Given the description of an element on the screen output the (x, y) to click on. 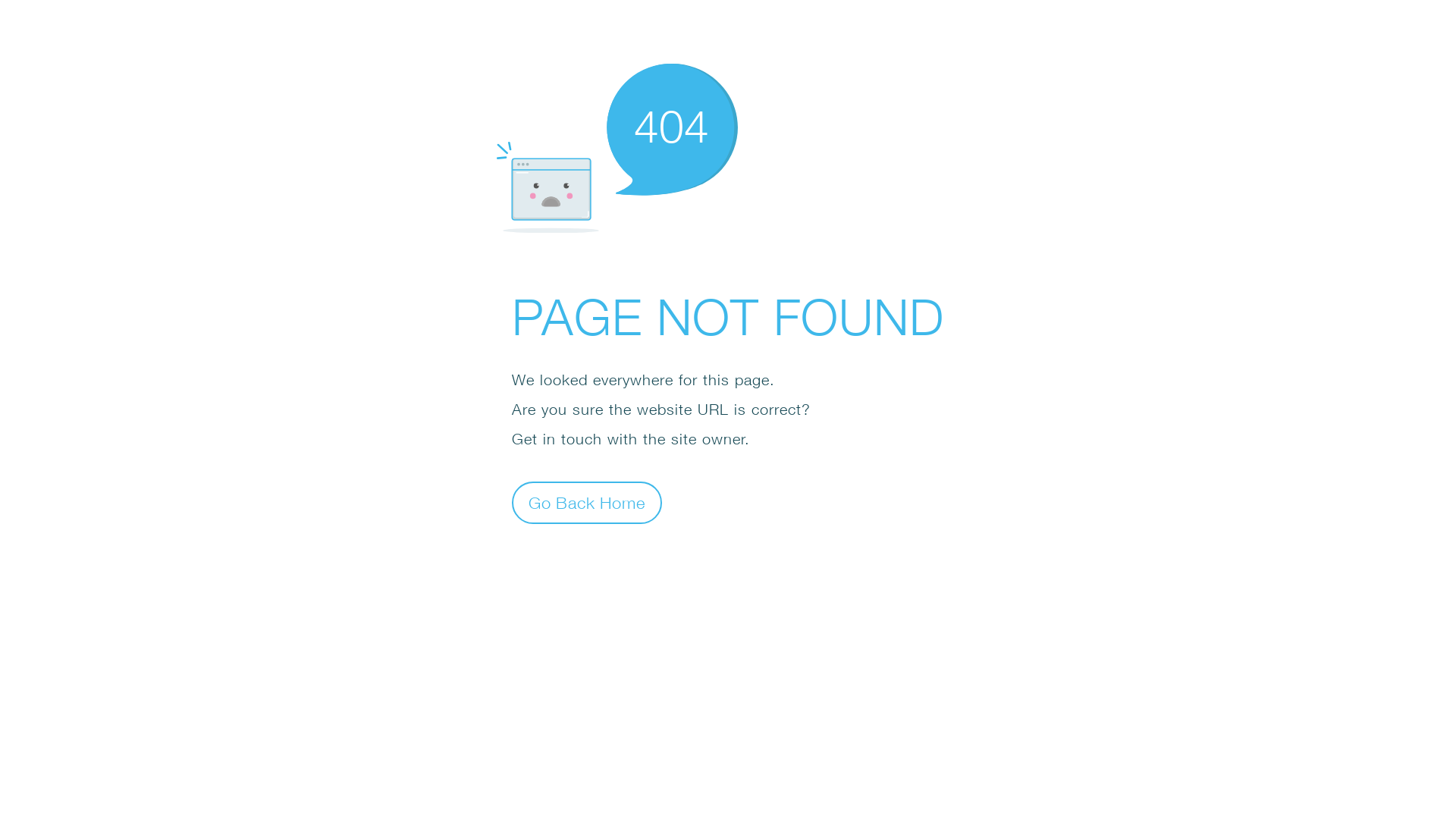
Go Back Home Element type: text (586, 502)
